Given the description of an element on the screen output the (x, y) to click on. 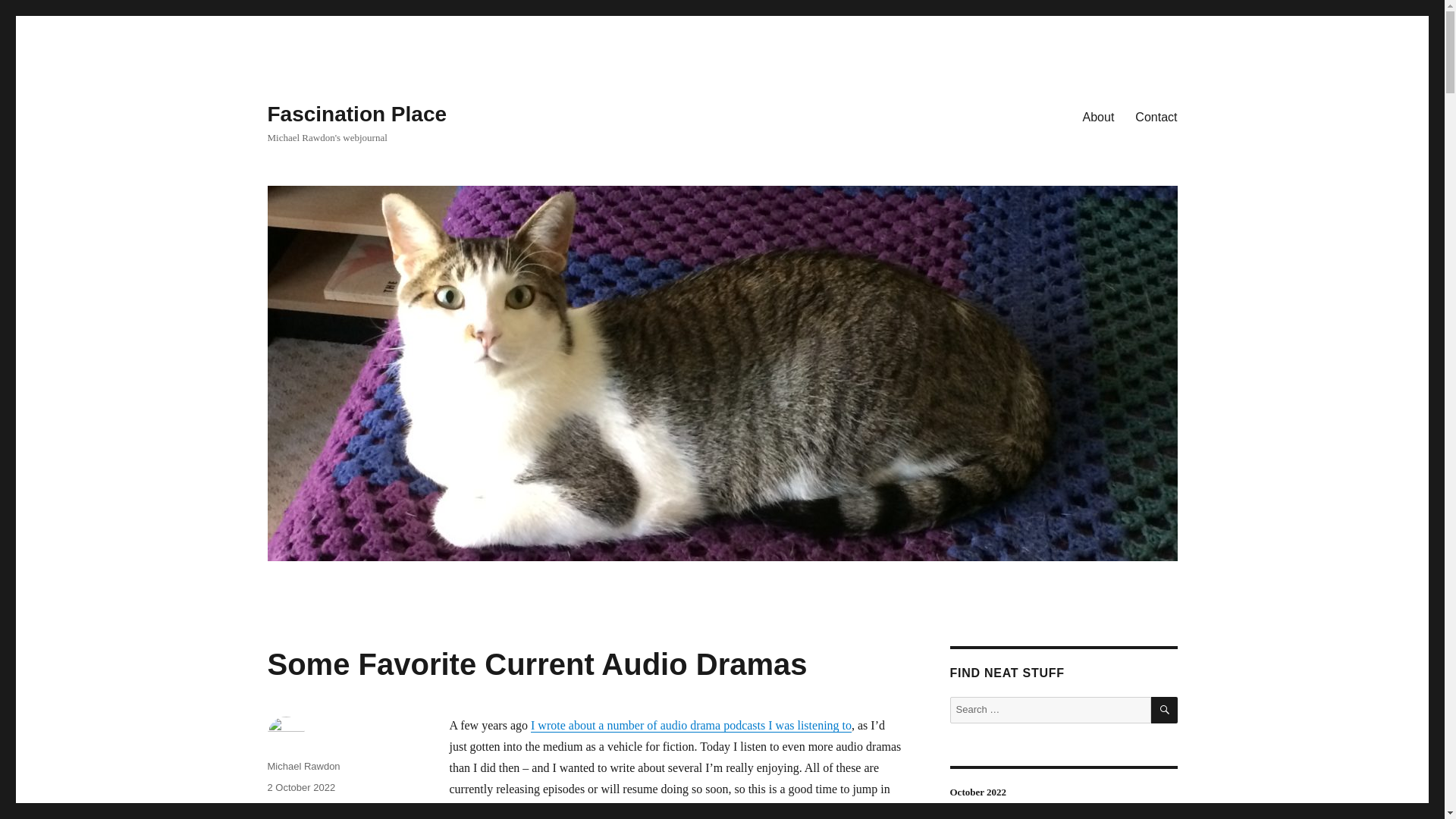
Contact (1156, 116)
2 October 2022 (300, 787)
Podcasts (286, 808)
About (1098, 116)
Michael Rawdon (302, 766)
Fascination Place (356, 114)
